Given the description of an element on the screen output the (x, y) to click on. 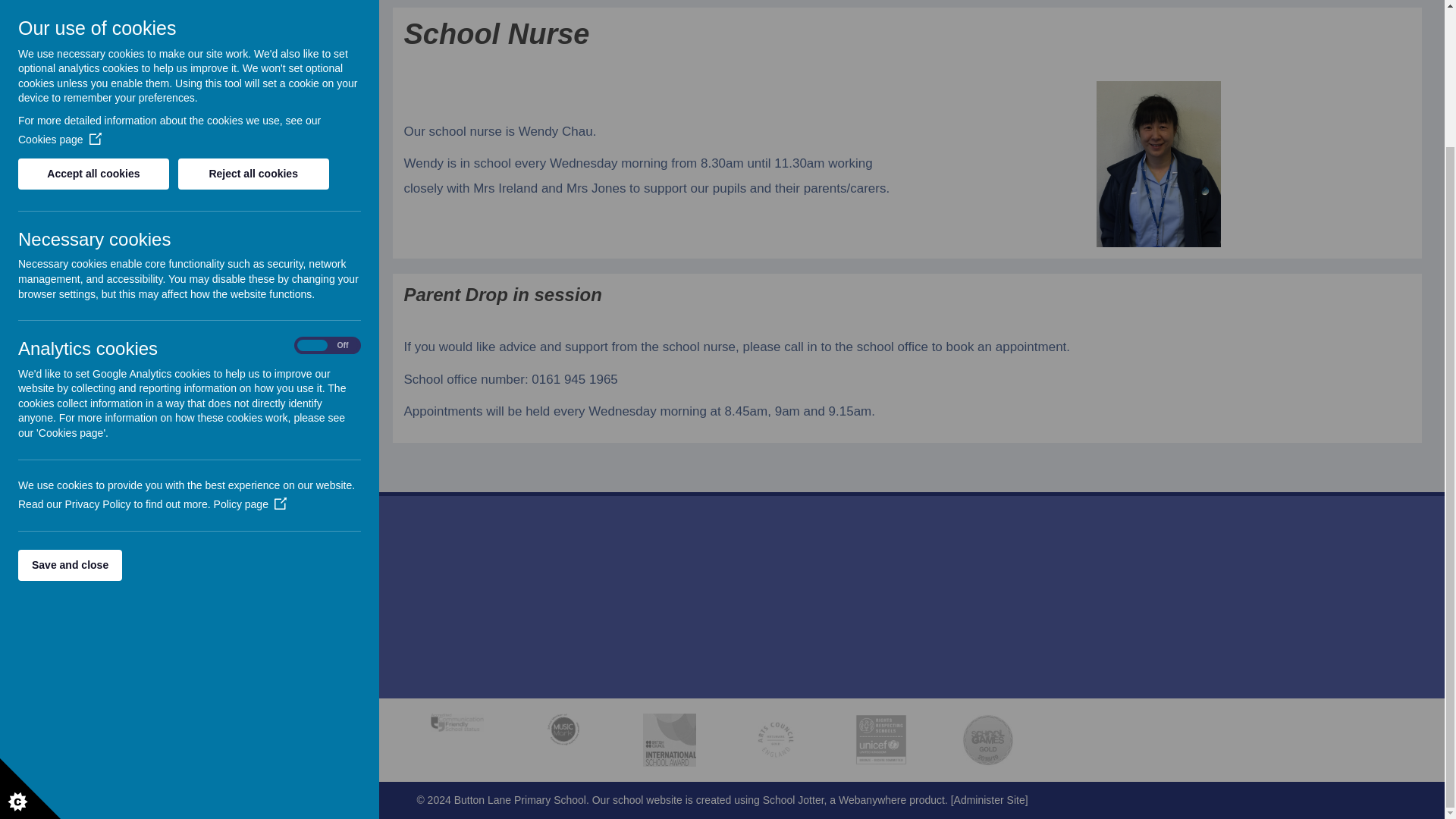
Cookie Control Icon (30, 619)
on (327, 176)
